Given the description of an element on the screen output the (x, y) to click on. 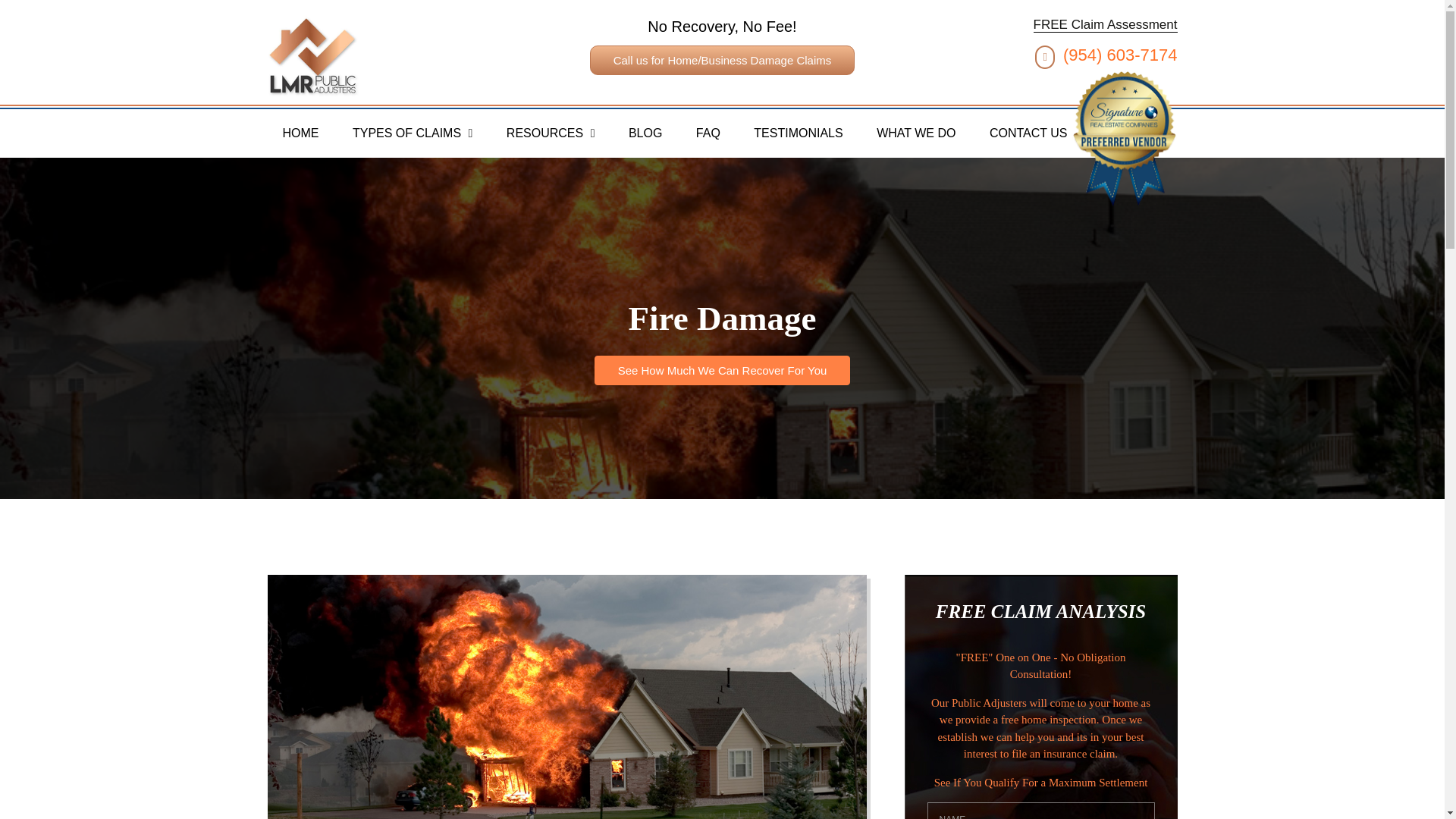
TYPES OF CLAIMS (412, 133)
HOME (299, 133)
RESOURCES (551, 133)
